Given the description of an element on the screen output the (x, y) to click on. 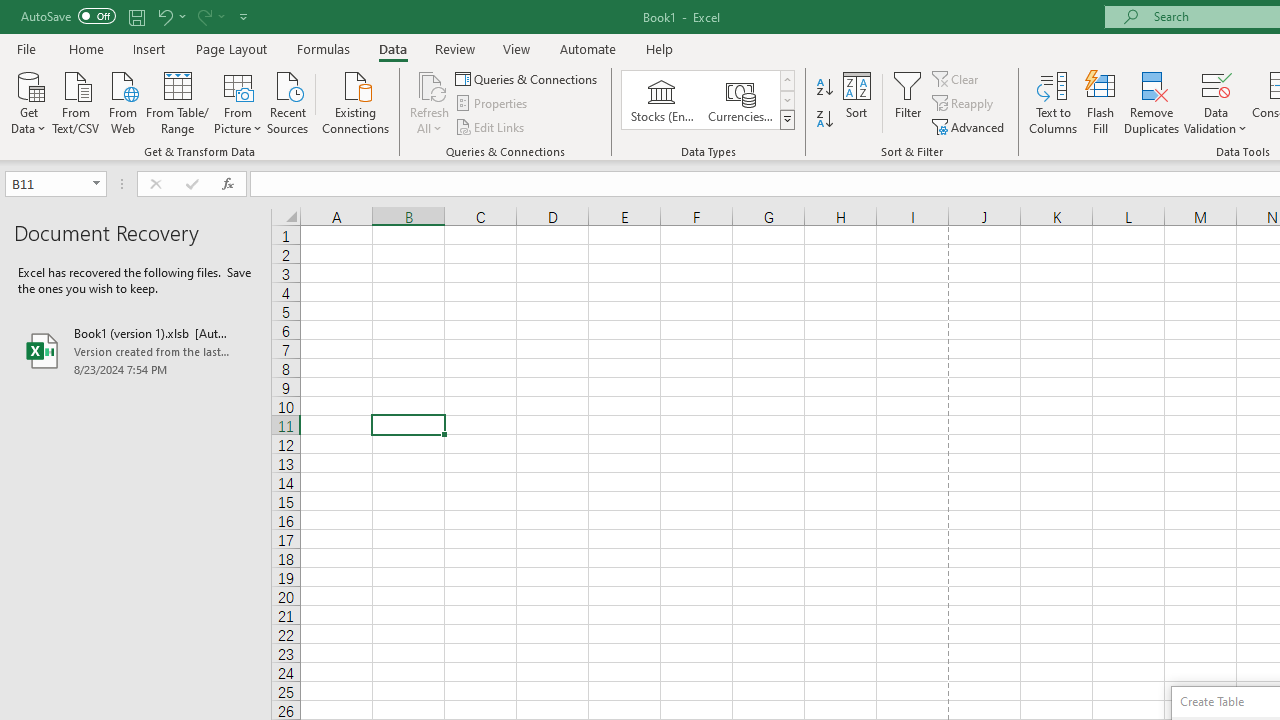
Quick Access Toolbar (136, 16)
Insert (149, 48)
Formulas (323, 48)
Queries & Connections (527, 78)
Edit Links (491, 126)
System (10, 11)
Reapply (964, 103)
Save (136, 15)
From Table/Range (177, 101)
Stocks (English) (662, 100)
System (10, 11)
Data Types (786, 120)
